Given the description of an element on the screen output the (x, y) to click on. 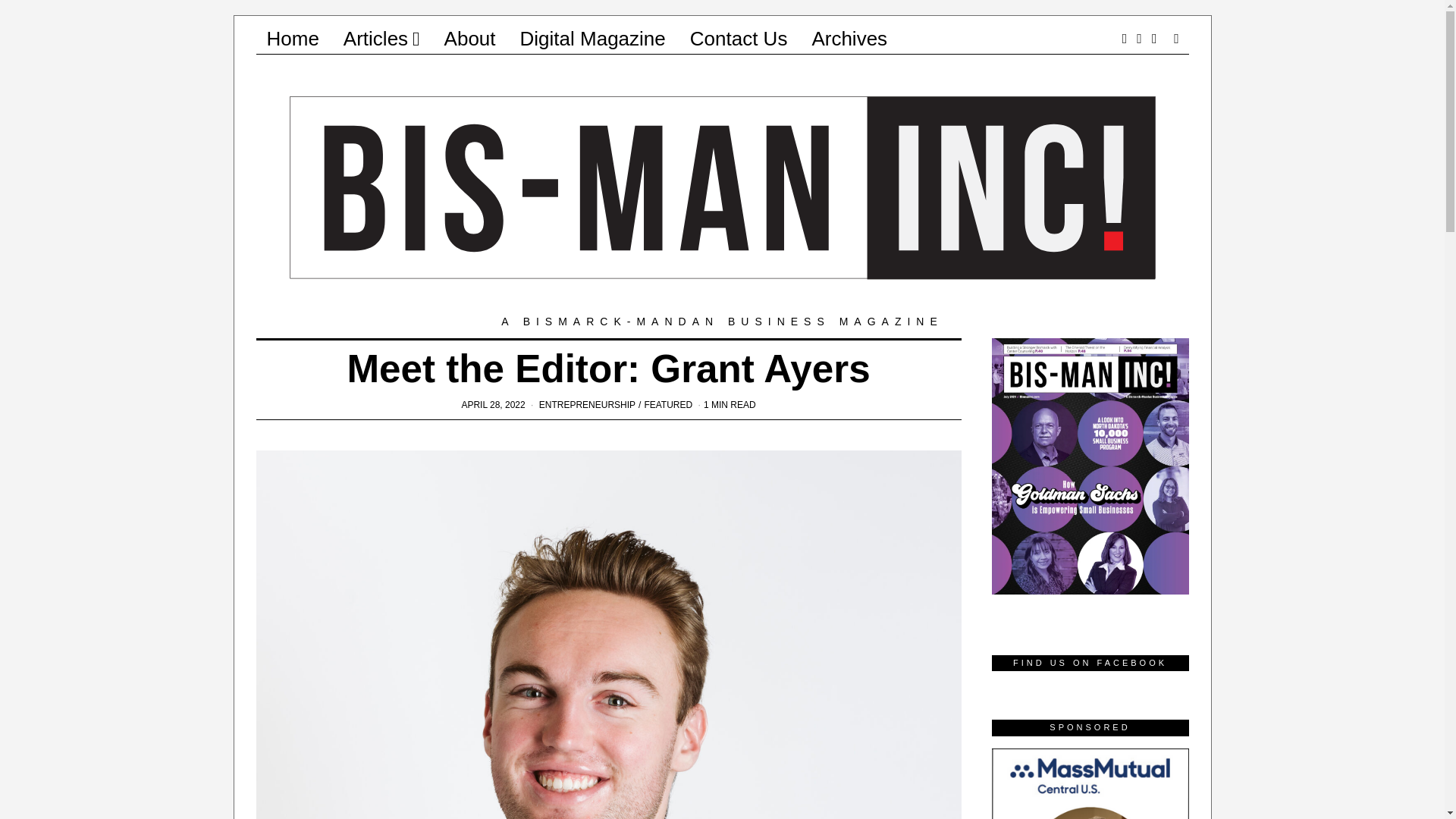
ENTREPRENEURSHIP (586, 404)
Contact Us (738, 38)
Articles (381, 38)
About (469, 38)
MassMutual - BMI Sidebar (1090, 783)
Archives (849, 38)
Digital Magazine (593, 38)
Home (293, 38)
FEATURED (668, 404)
